Given the description of an element on the screen output the (x, y) to click on. 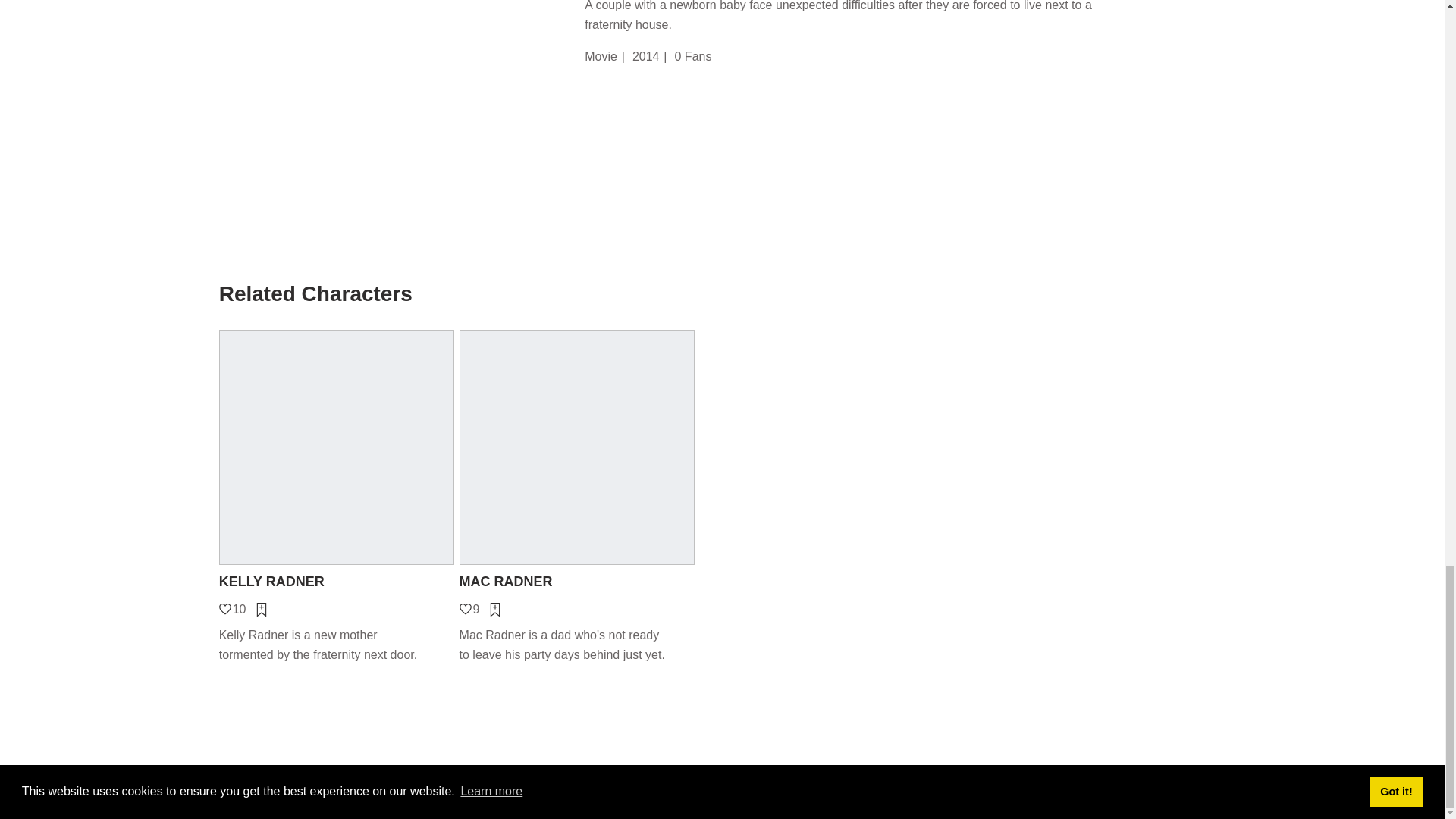
MAC RADNER (577, 581)
KELLY RADNER (336, 581)
Contact (596, 797)
Copyright Policy (826, 797)
About (555, 797)
Privacy Policy (658, 797)
Home (517, 797)
Terms of Service (739, 797)
